Given the description of an element on the screen output the (x, y) to click on. 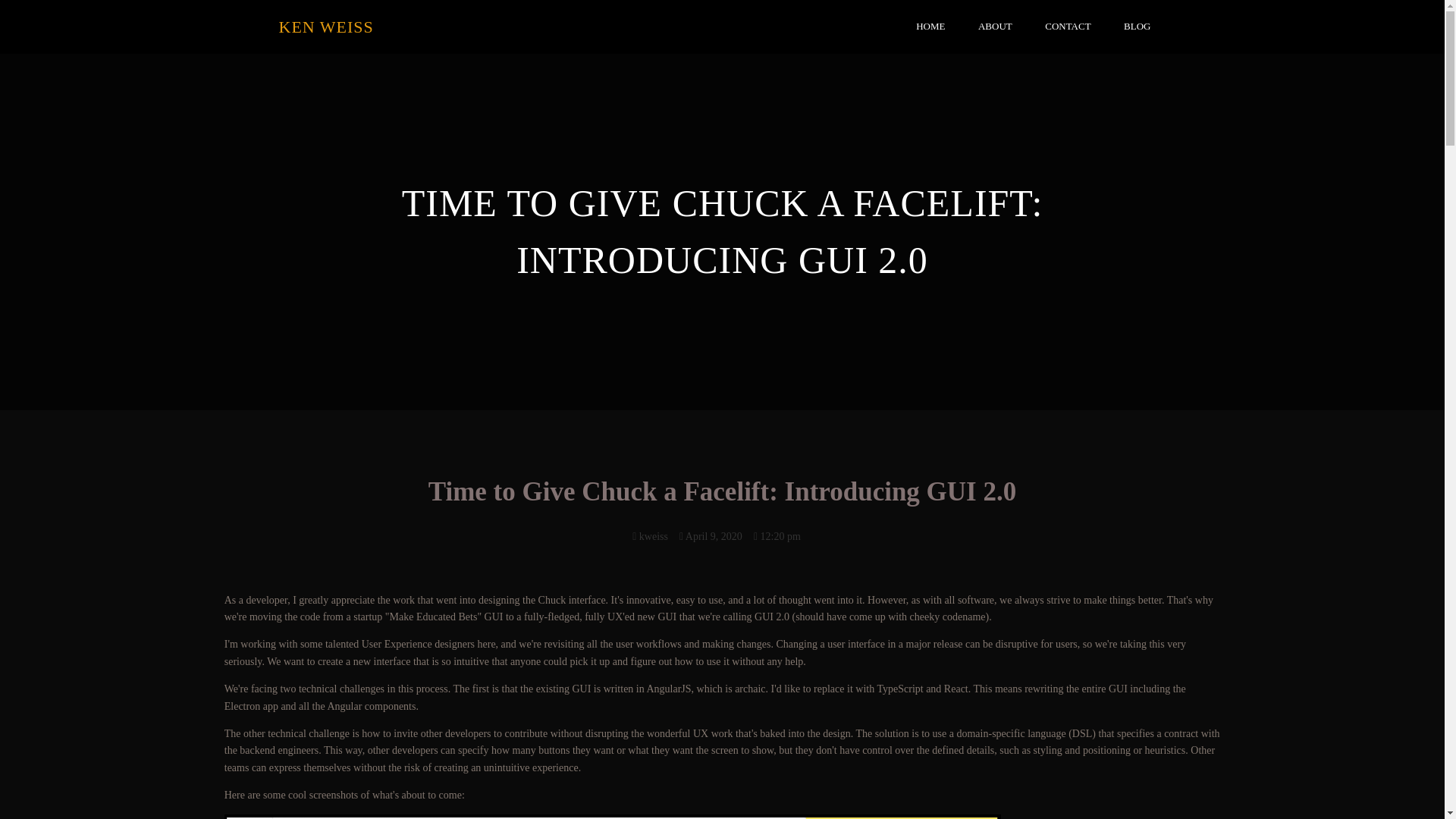
HOME (930, 26)
CONTACT (1067, 26)
12:20 pm (777, 536)
April 9, 2020 (710, 536)
ABOUT (994, 26)
kweiss (649, 536)
BLOG (1137, 26)
KEN WEISS (500, 26)
